Given the description of an element on the screen output the (x, y) to click on. 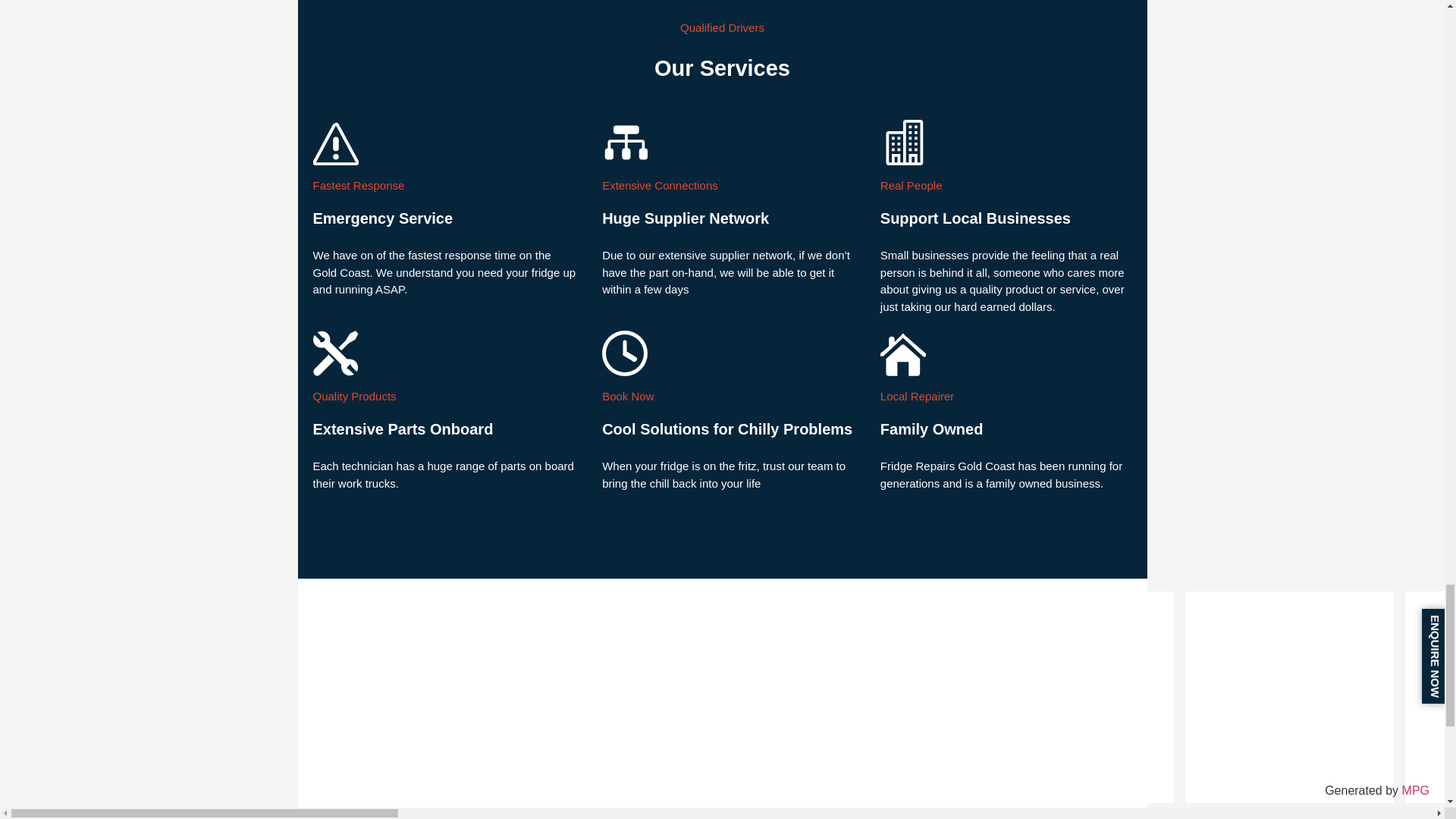
List Title (1430, 697)
